Given the description of an element on the screen output the (x, y) to click on. 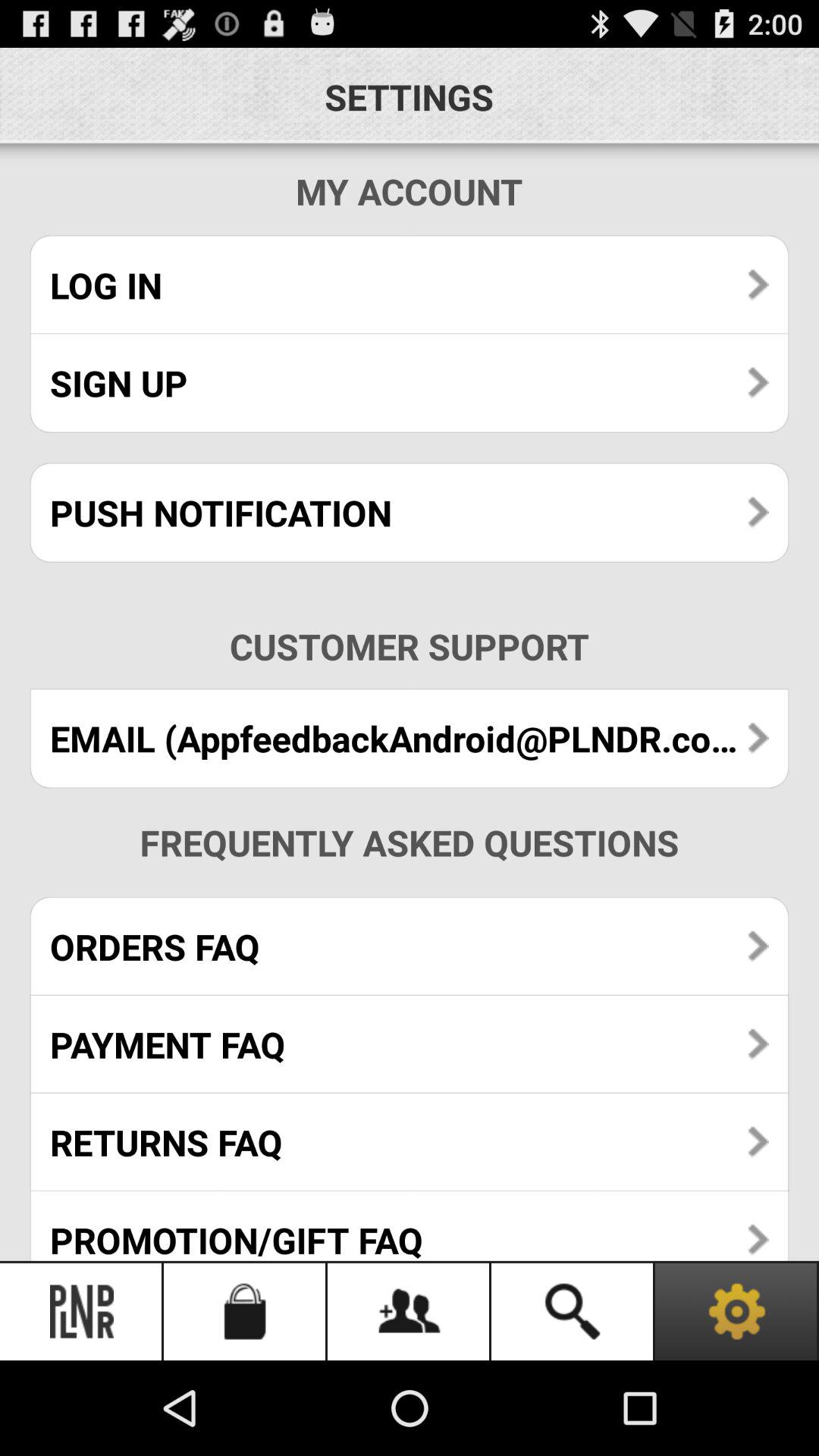
flip to push notification item (409, 512)
